Given the description of an element on the screen output the (x, y) to click on. 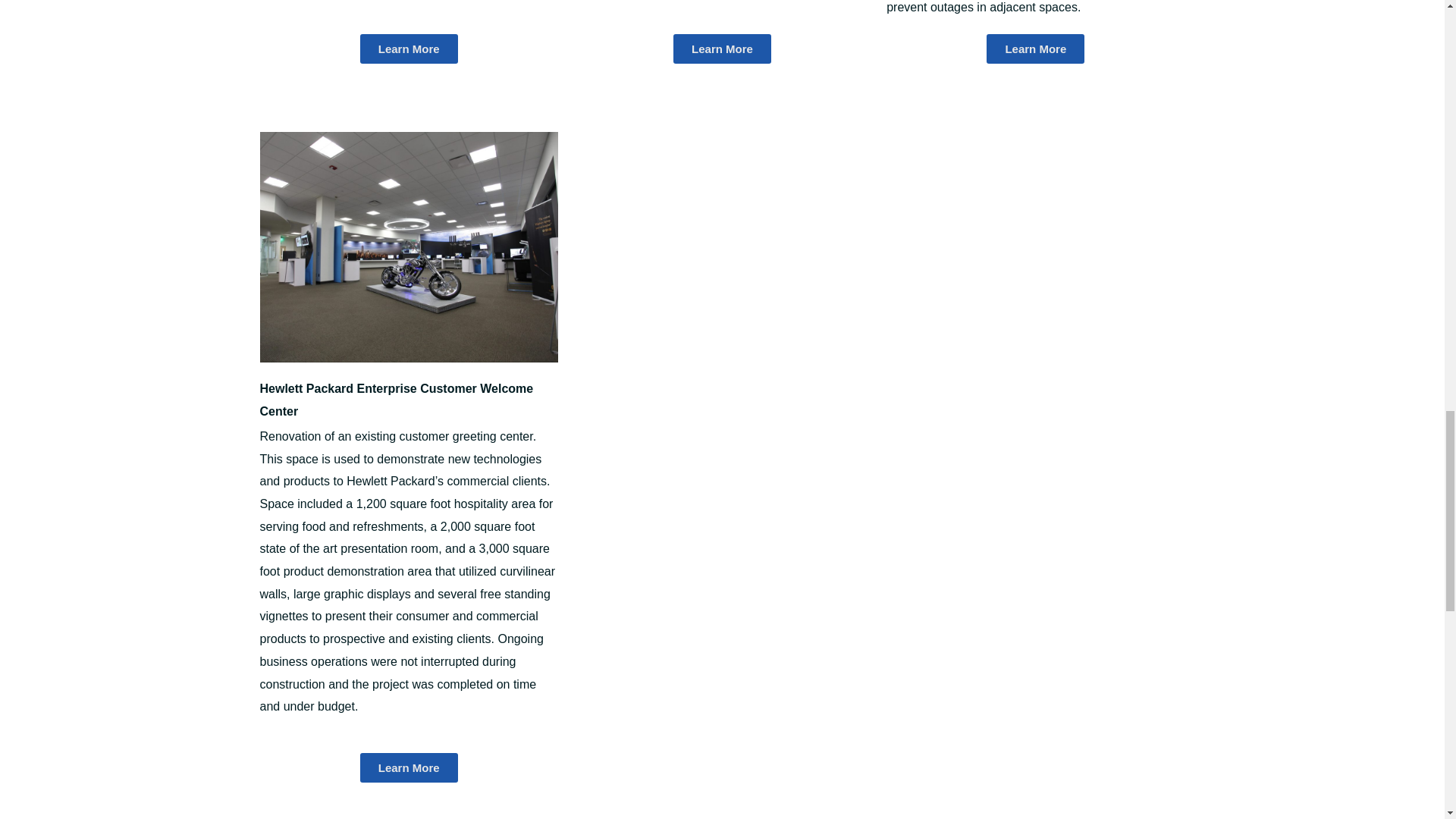
Learn More (1035, 48)
Learn More (408, 767)
Learn More (721, 48)
Learn More (408, 48)
